Given the description of an element on the screen output the (x, y) to click on. 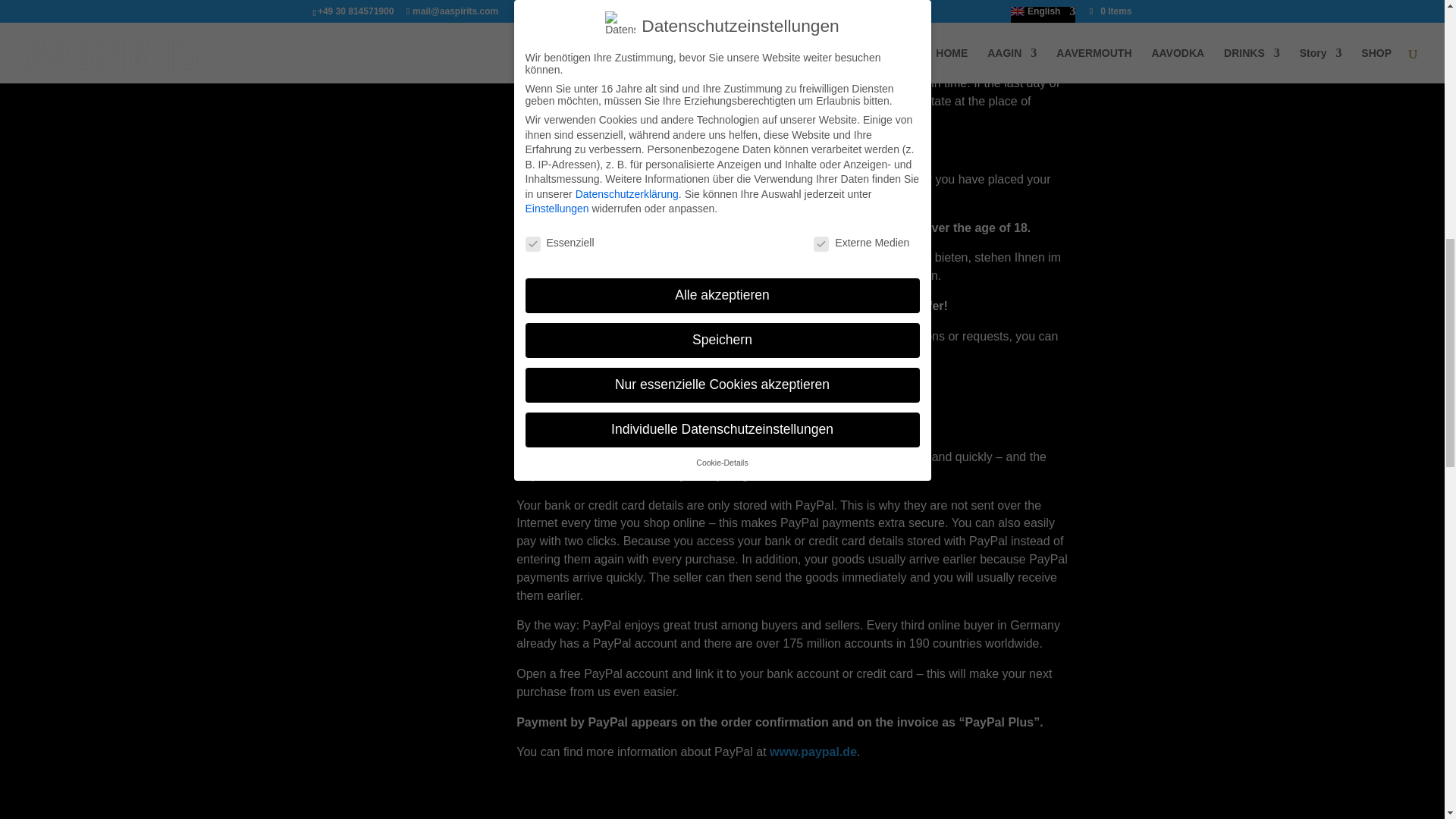
PayPal (813, 751)
